Given the description of an element on the screen output the (x, y) to click on. 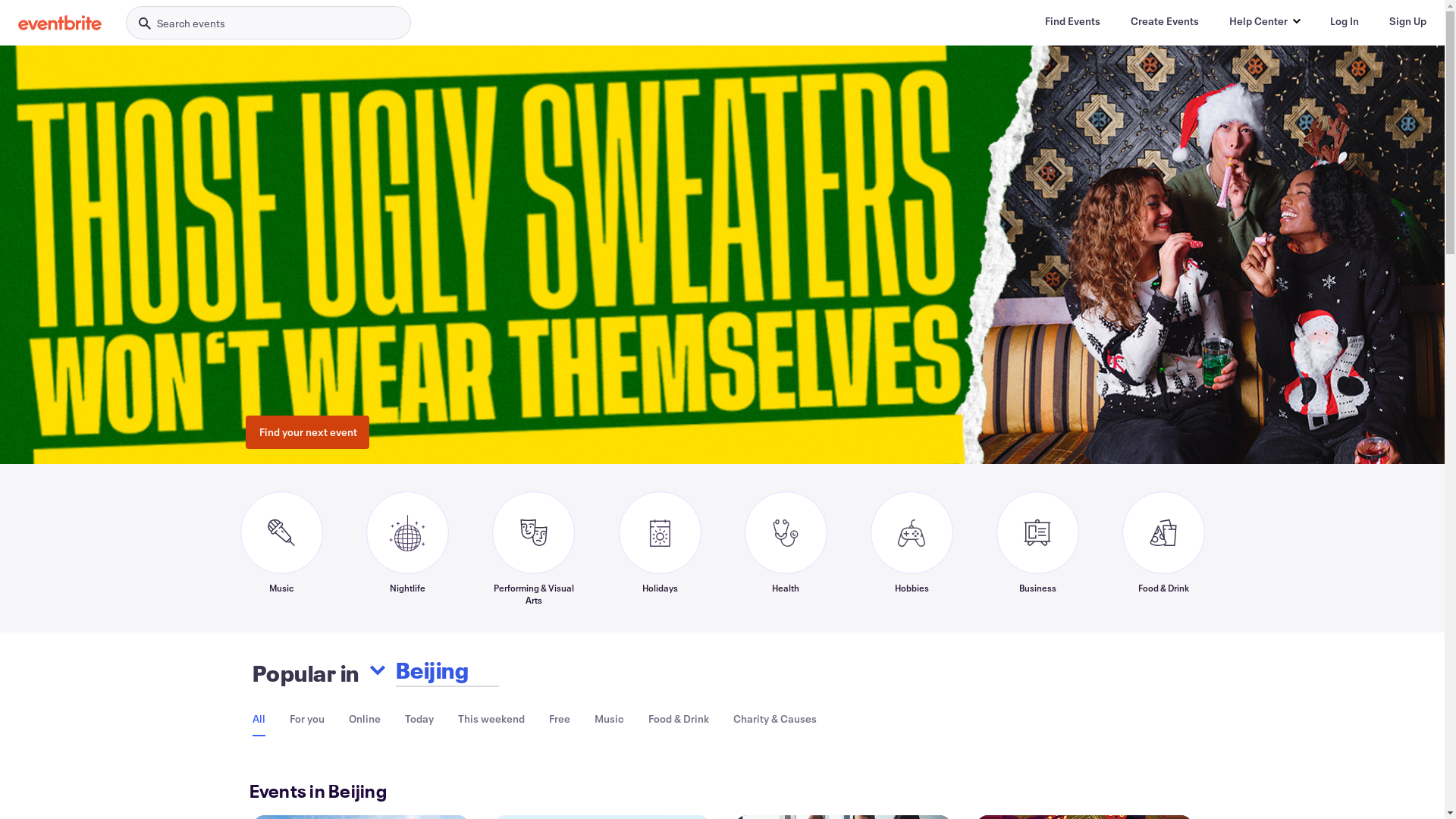
Holidays Element type: text (659, 548)
All Element type: text (257, 719)
Music Element type: text (609, 718)
Create Events Element type: text (1164, 21)
Health Element type: text (785, 548)
Find your next event Element type: text (307, 431)
Sign Up Element type: text (1407, 21)
Find Events Element type: text (1072, 21)
Free Element type: text (559, 718)
Eventbrite Element type: hover (59, 22)
Search events Element type: text (268, 22)
Online Element type: text (364, 718)
This weekend Element type: text (491, 718)
Log In Element type: text (1344, 21)
Food & Drink Element type: text (1163, 548)
Business Element type: text (1037, 548)
Food & Drink Element type: text (677, 718)
Nightlife Element type: text (406, 548)
Performing & Visual Arts Element type: text (532, 548)
Music Element type: text (280, 548)
Charity & Causes Element type: text (773, 718)
For you Element type: text (306, 718)
Hobbies Element type: text (911, 548)
Today Element type: text (418, 718)
